Given the description of an element on the screen output the (x, y) to click on. 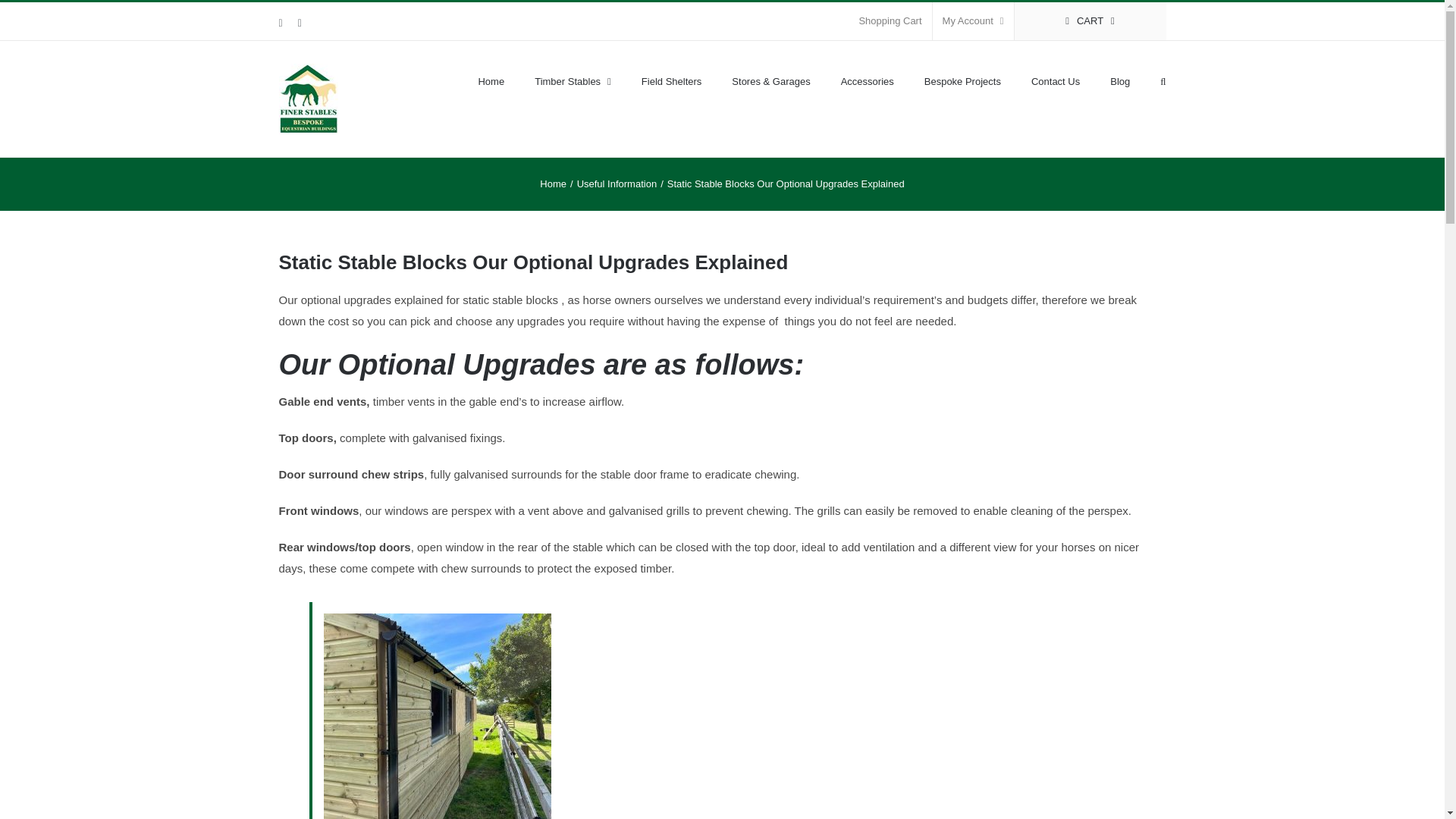
Useful Information (617, 183)
CART (1090, 21)
Shopping Cart (889, 21)
Home (553, 183)
Log In (1034, 165)
Bespoke Projects (962, 79)
My Account (973, 21)
Timber Stables (572, 79)
